Given the description of an element on the screen output the (x, y) to click on. 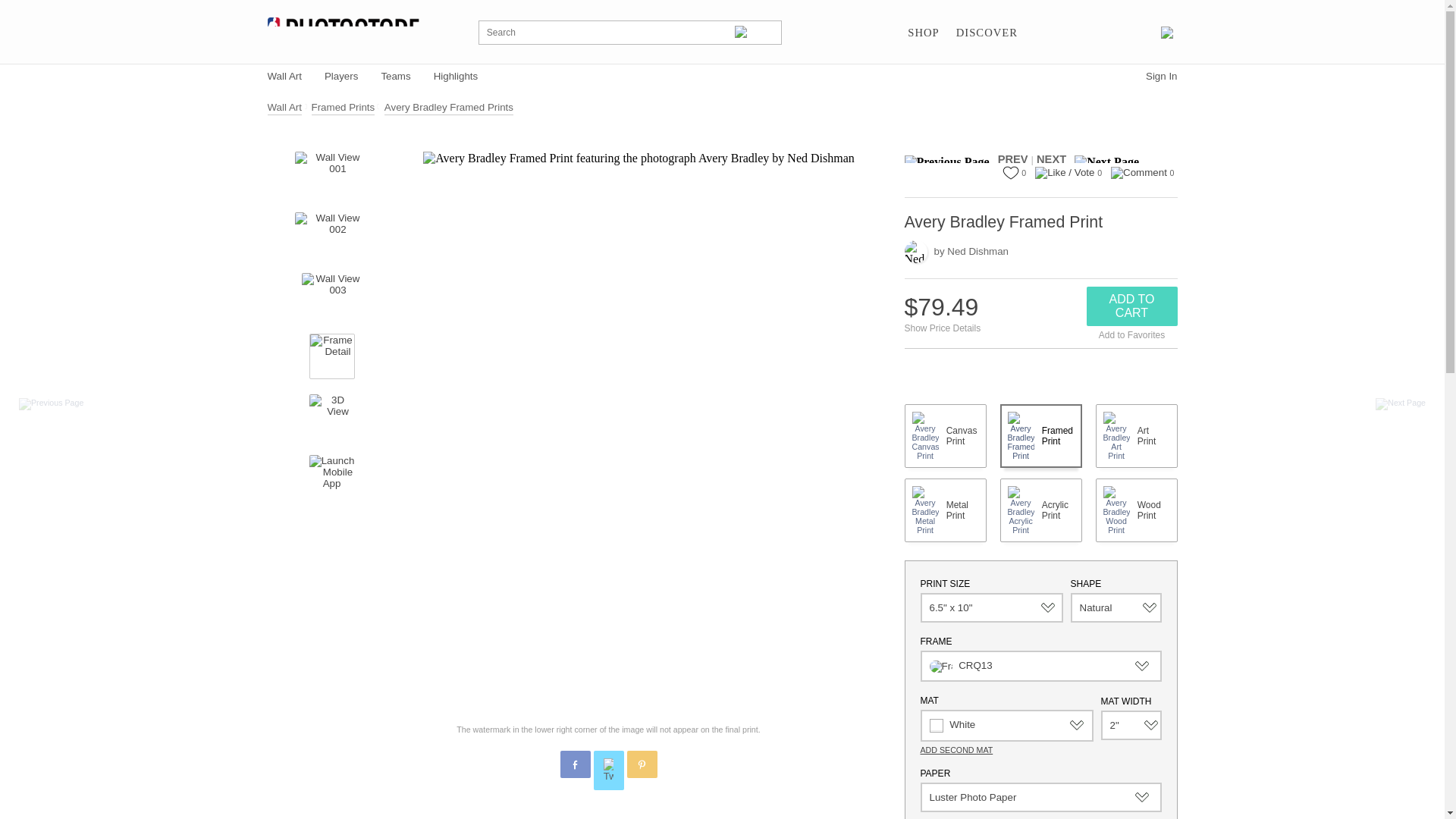
Wall View 003 (331, 295)
3D View (331, 416)
Favorite (1010, 172)
Frame Detail (331, 356)
NBA Photo Store (342, 31)
Share Product on Pinterest (641, 764)
Share Product on Facebook (574, 764)
Pinterest (642, 765)
Search (754, 32)
Wall View 001 (331, 174)
